Given the description of an element on the screen output the (x, y) to click on. 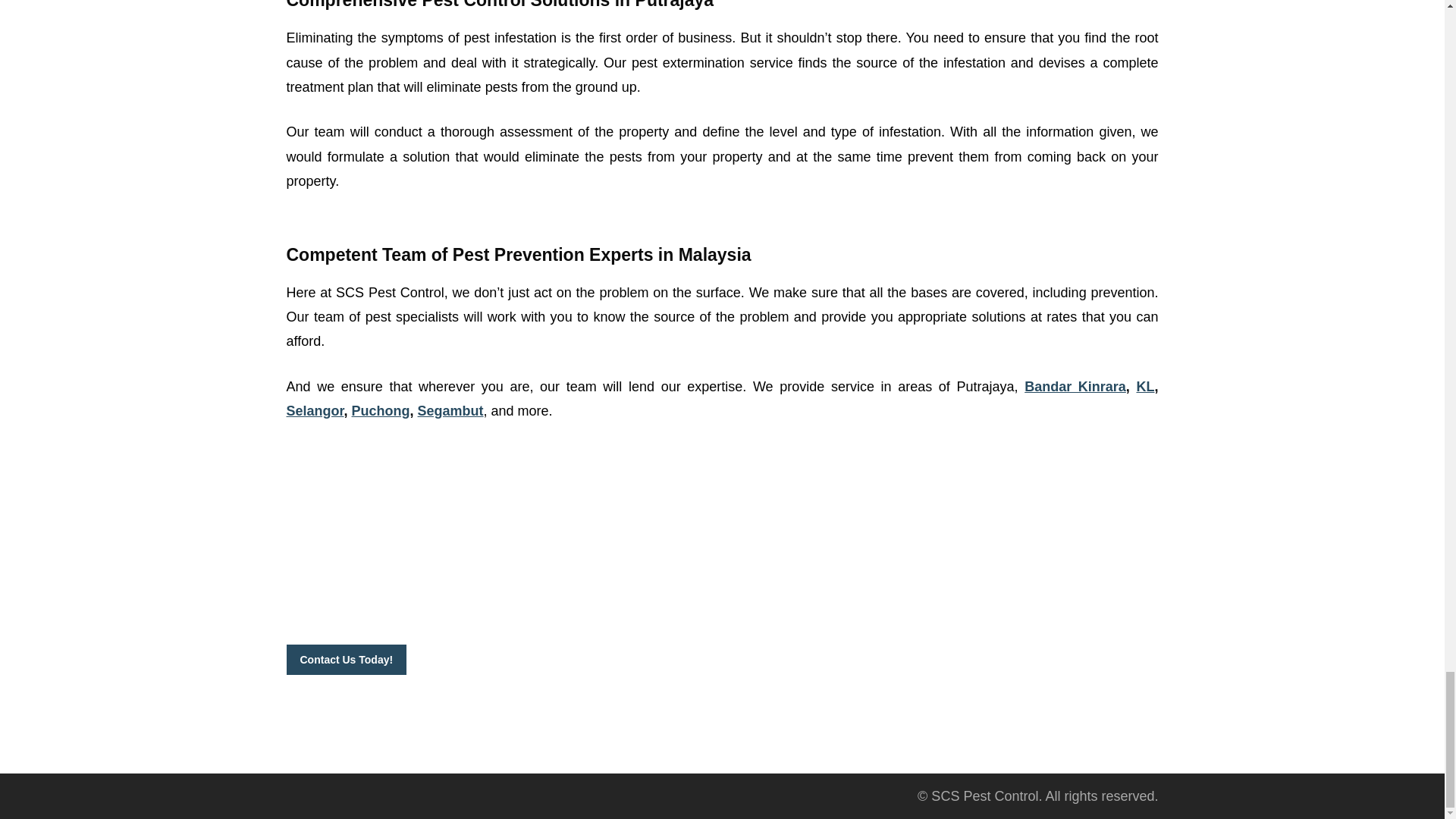
Contact us (868, 592)
KL (1144, 386)
Selangor (314, 410)
Puchong (381, 410)
fleas (470, 592)
mosquitoes (407, 592)
